Given the description of an element on the screen output the (x, y) to click on. 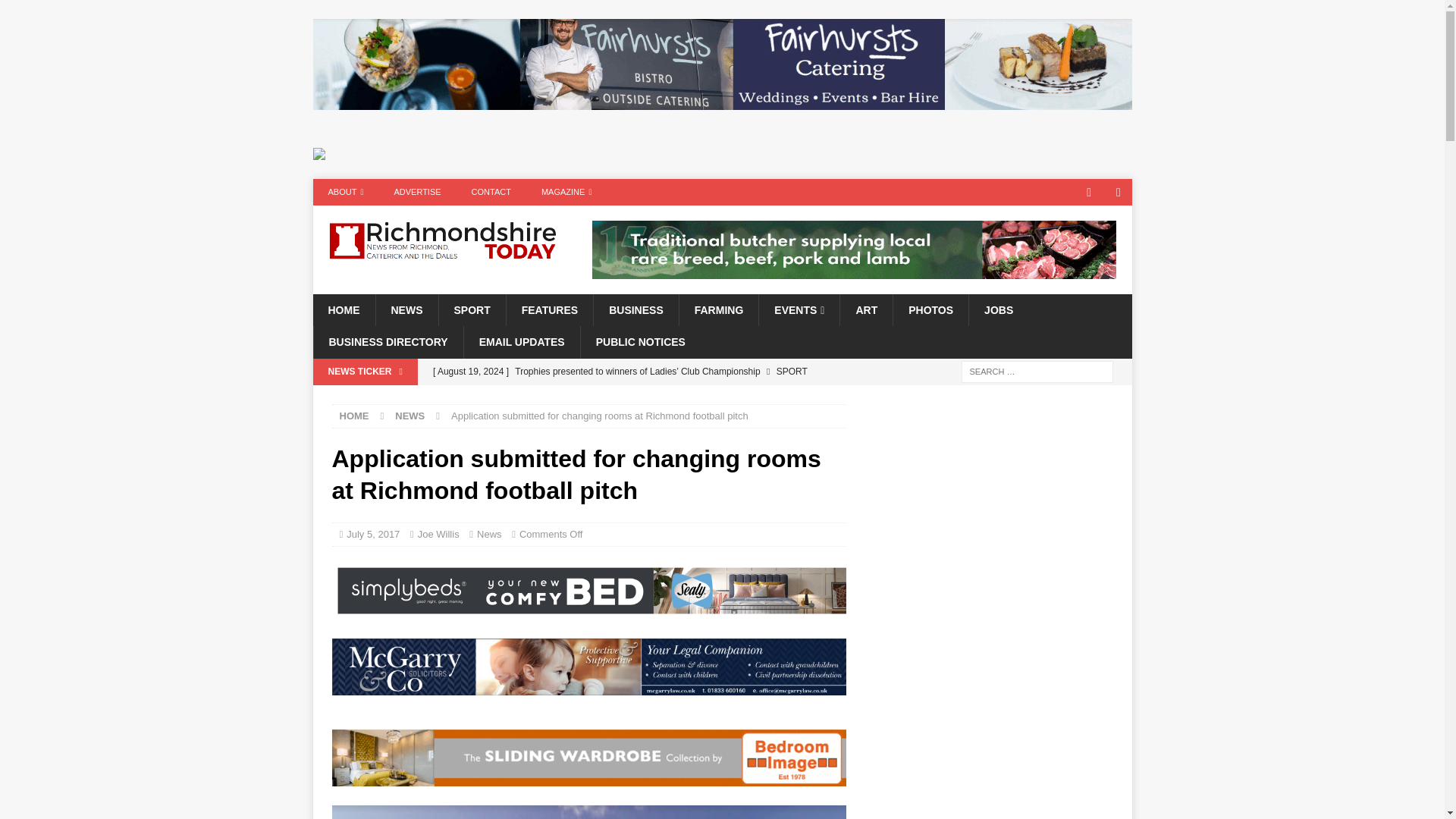
ADVERTISE (416, 192)
playing (588, 812)
PHOTOS (930, 309)
HOME (354, 415)
CONTACT (491, 192)
EVENTS (799, 309)
NEWS (406, 309)
HOME (343, 309)
BUSINESS DIRECTORY (388, 341)
Search (56, 11)
